Given the description of an element on the screen output the (x, y) to click on. 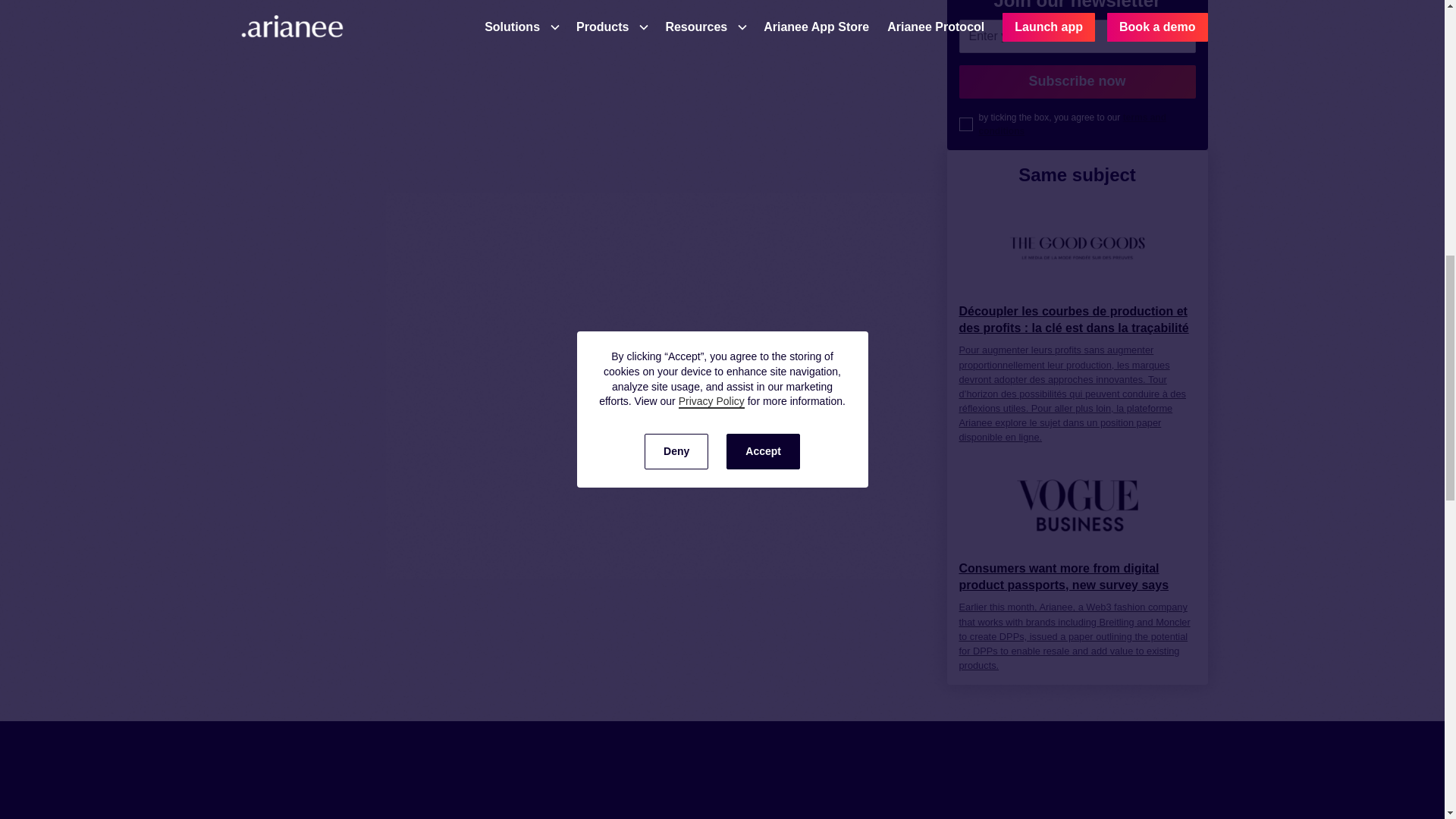
Subscribe now (1076, 81)
